Given the description of an element on the screen output the (x, y) to click on. 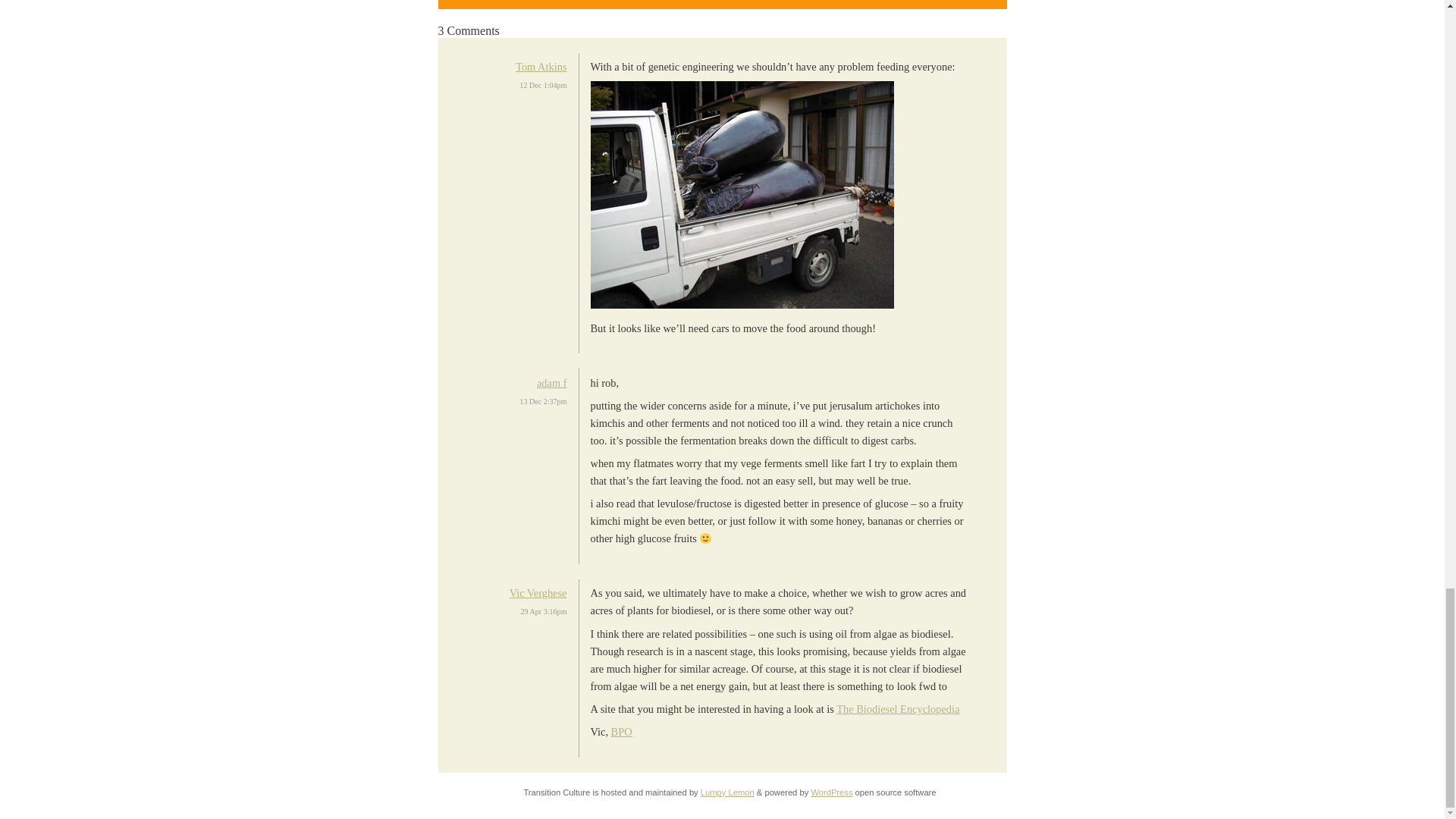
The Biodiesel Encyclopedia (897, 708)
WordPress (830, 791)
Vic Verghese (538, 592)
Tom Atkins (540, 66)
BPO (621, 731)
Lumpy Lemon (727, 791)
adam f (552, 382)
